Given the description of an element on the screen output the (x, y) to click on. 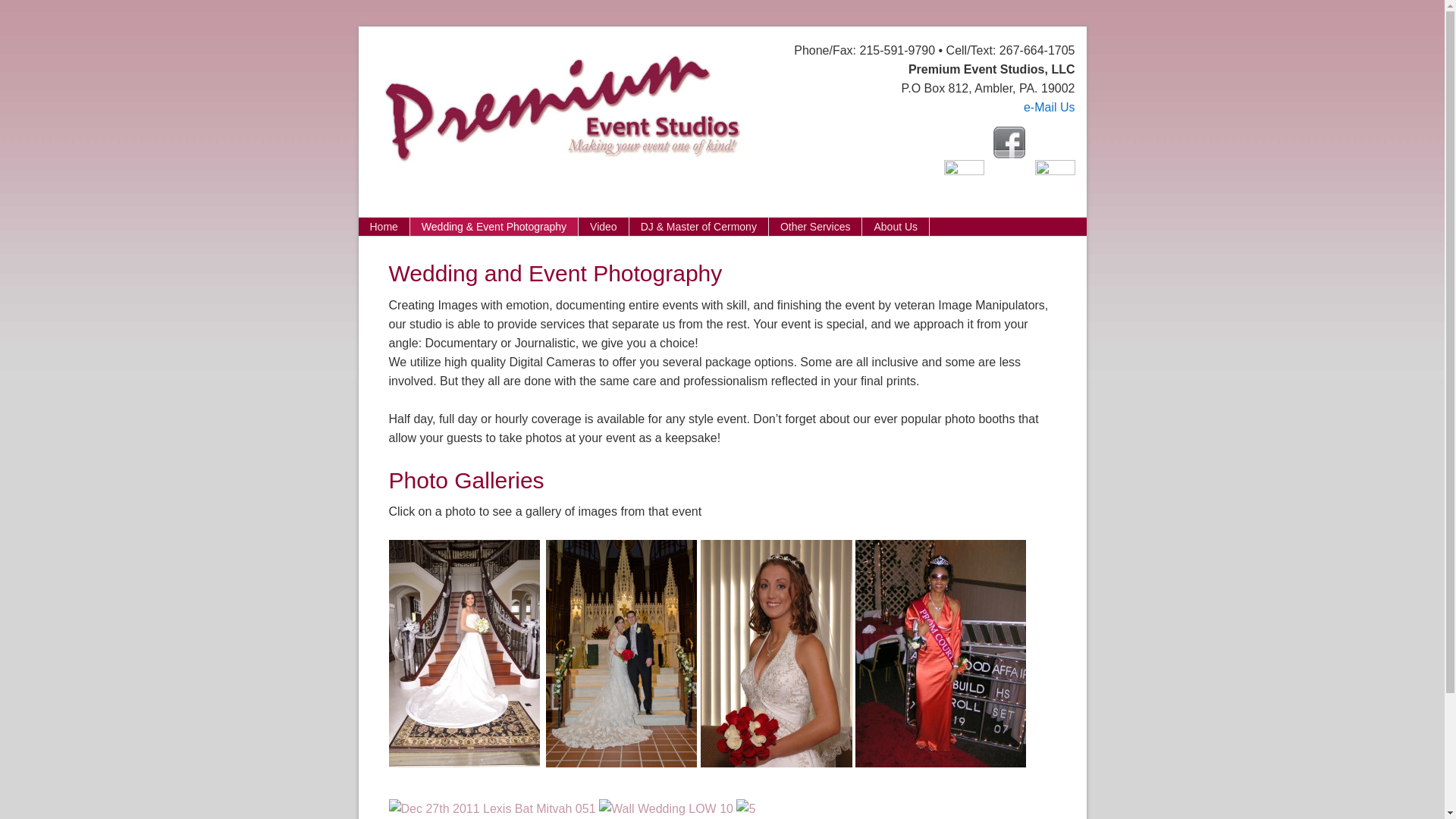
Premium Event Studios (549, 101)
Home (383, 226)
Video (603, 226)
e-Mail Us (1049, 106)
Other Services (815, 226)
About Us (895, 226)
